Given the description of an element on the screen output the (x, y) to click on. 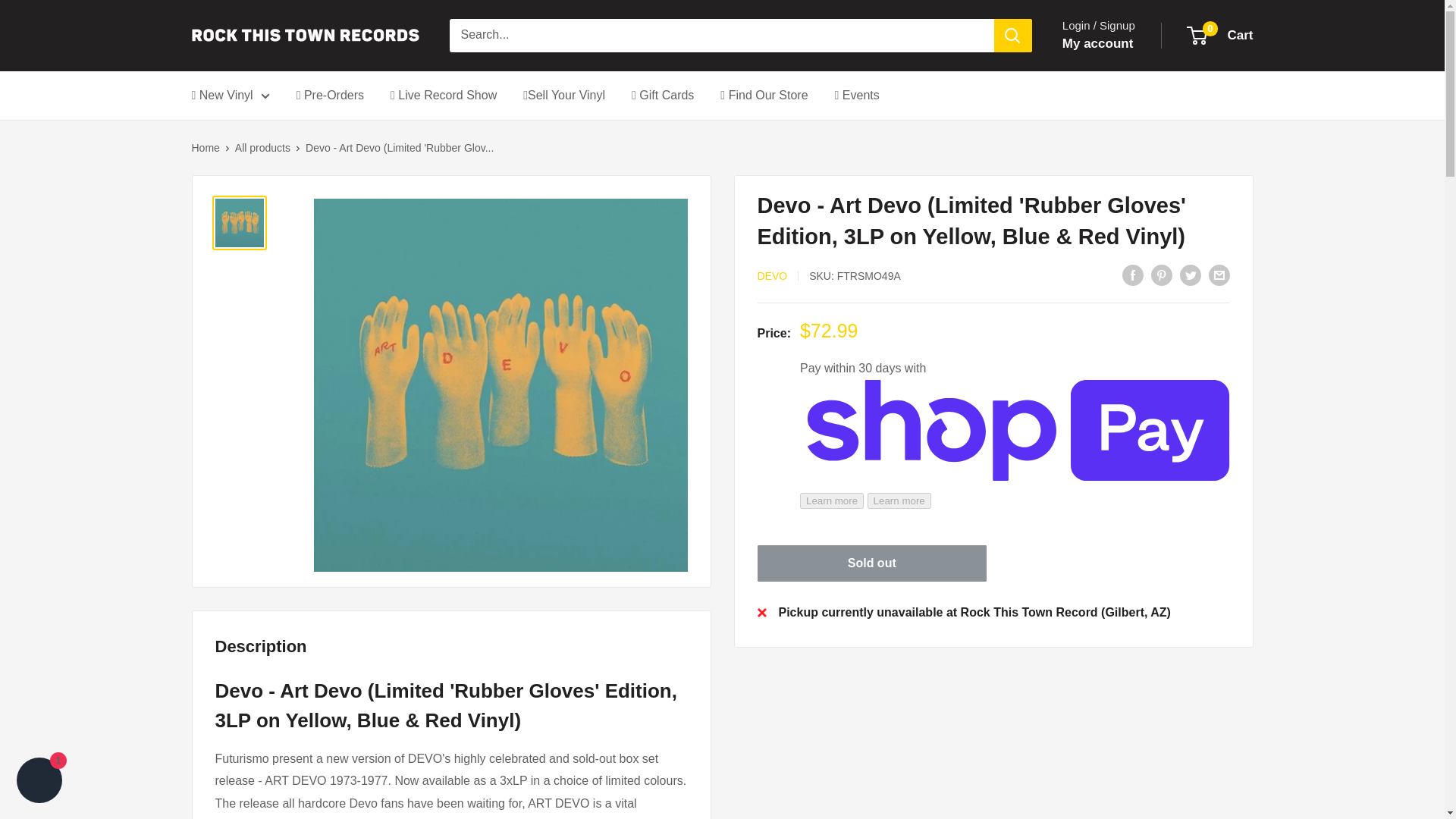
My account (1220, 35)
Shopify online store chat (1098, 43)
Rock This Town Records (38, 781)
